Given the description of an element on the screen output the (x, y) to click on. 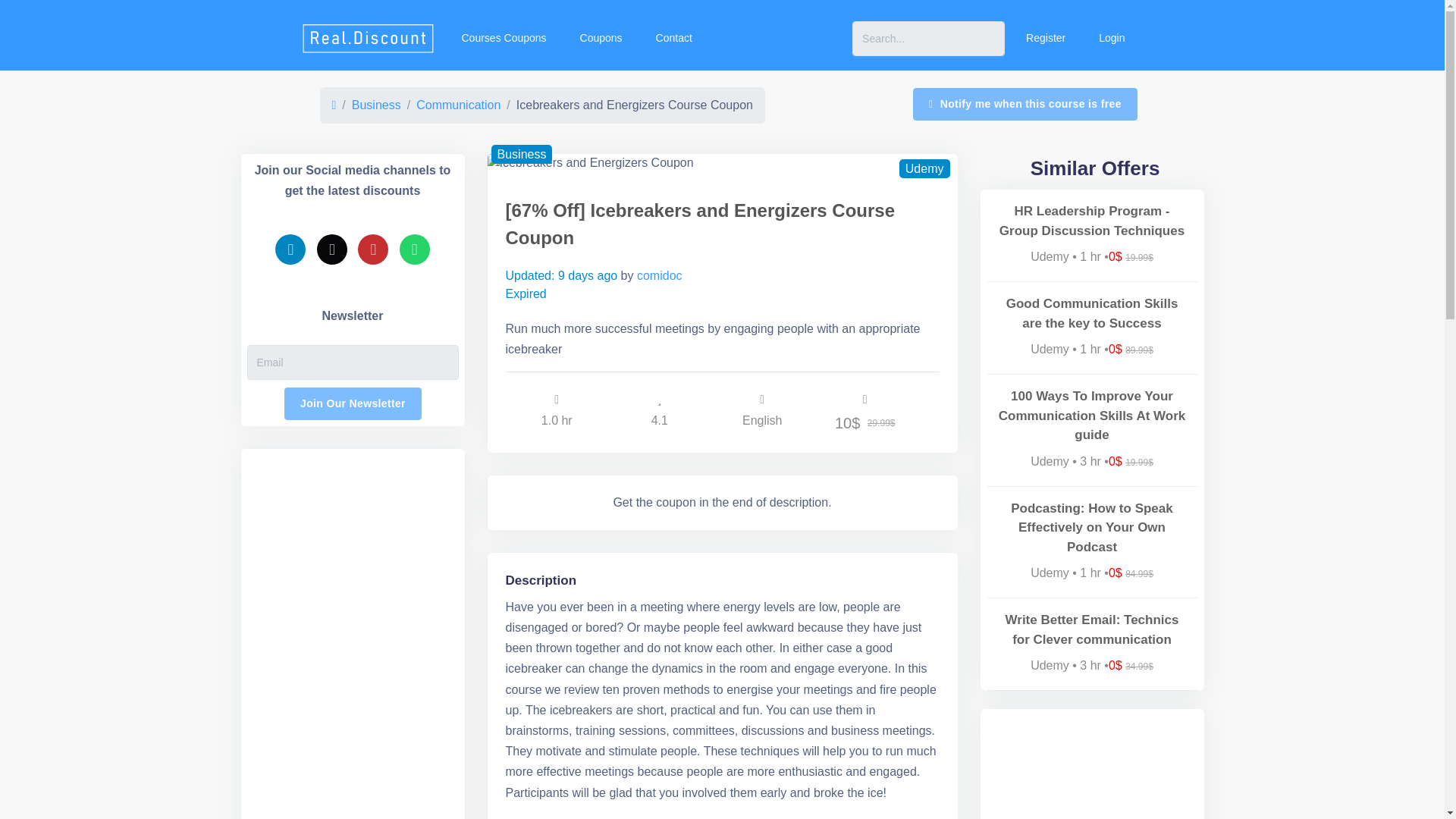
Notify me when this course is free (1024, 103)
Join Our Newsletter (352, 403)
Business (376, 104)
Register (1043, 38)
Coupons (599, 38)
Contact (672, 38)
Login (1110, 38)
Communication (458, 104)
Courses Coupons (501, 38)
Join Our Newsletter (352, 403)
